Given the description of an element on the screen output the (x, y) to click on. 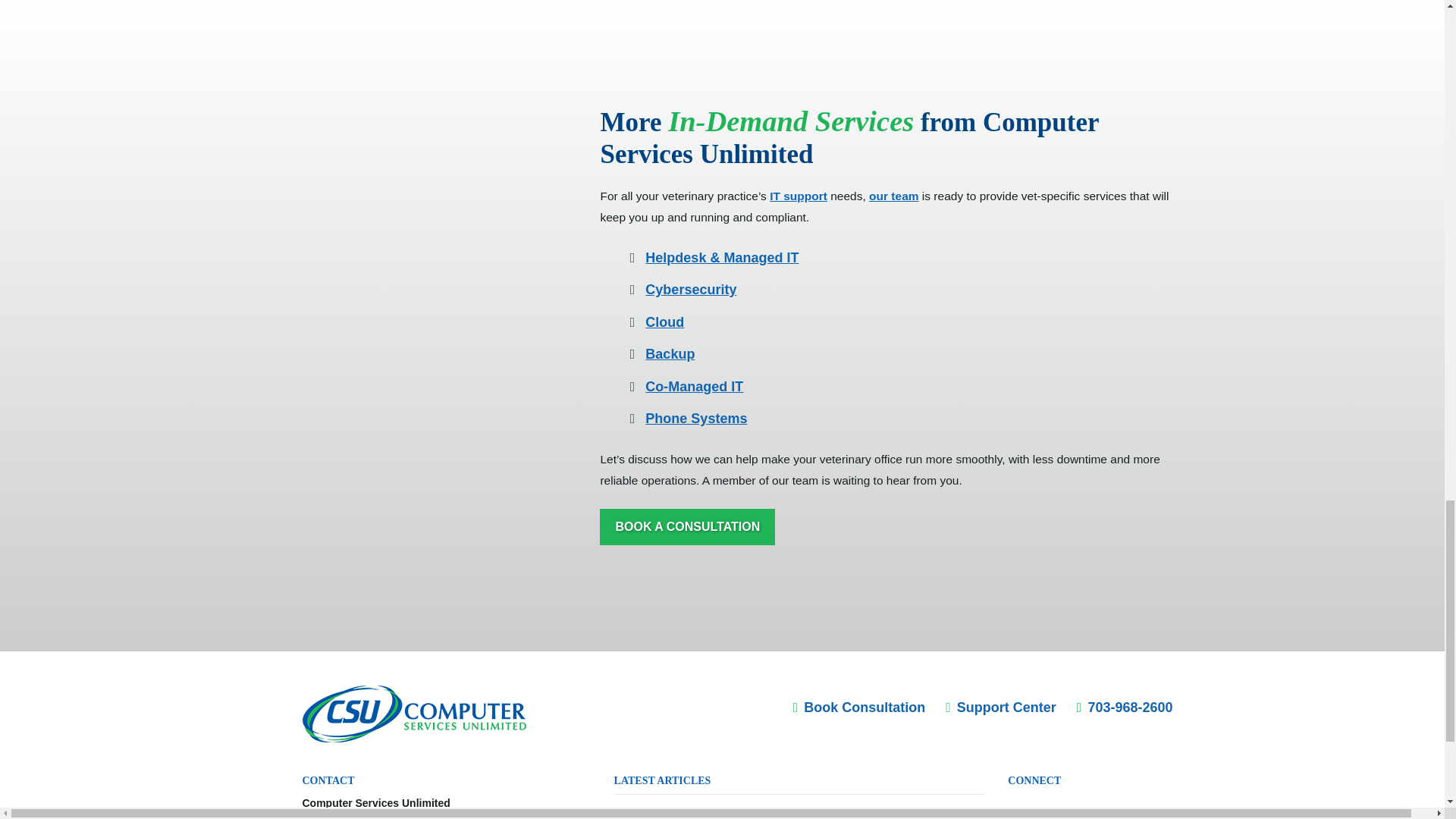
Phone Systems (695, 418)
703-968-2600 (1125, 707)
IT support (798, 195)
Backup (669, 353)
Book Consultation (859, 707)
Cybersecurity (690, 289)
Co-Managed IT (693, 386)
BOOK A CONSULTATION (686, 527)
Support Center (1000, 707)
our team (893, 195)
Cloud (664, 322)
